Given the description of an element on the screen output the (x, y) to click on. 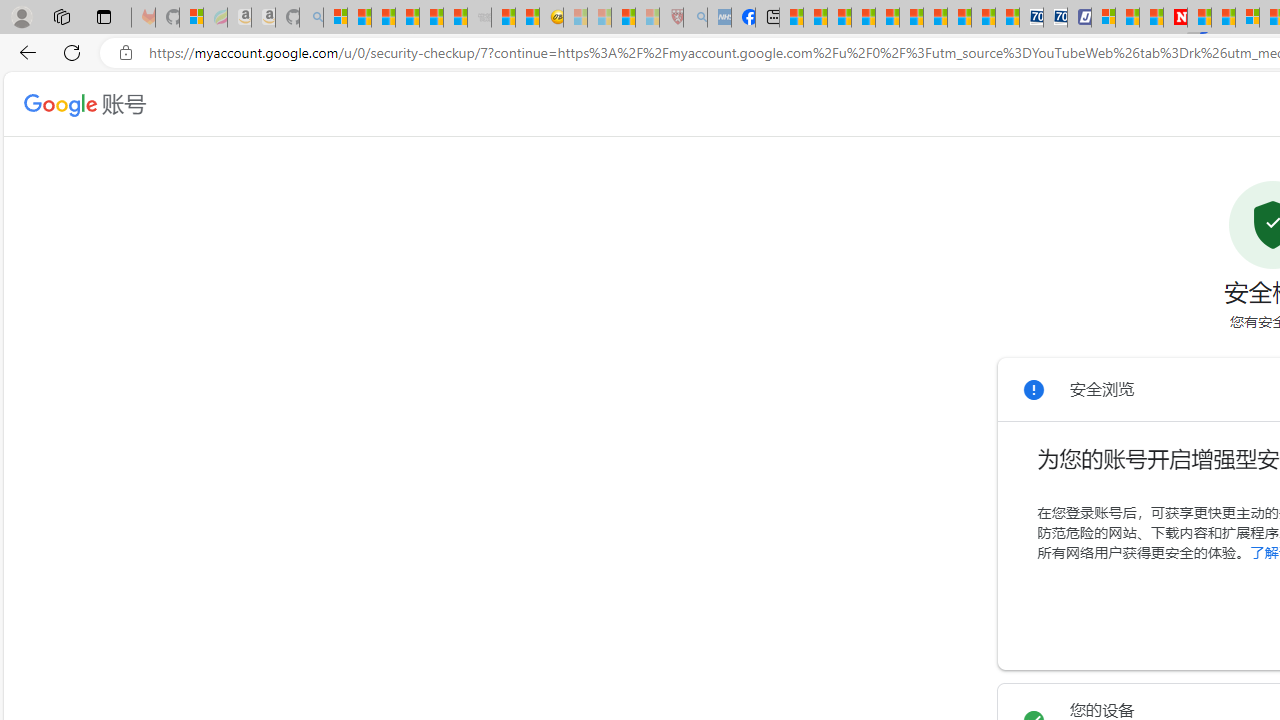
Climate Damage Becomes Too Severe To Reverse (863, 17)
12 Popular Science Lies that Must be Corrected - Sleeping (647, 17)
